Given the description of an element on the screen output the (x, y) to click on. 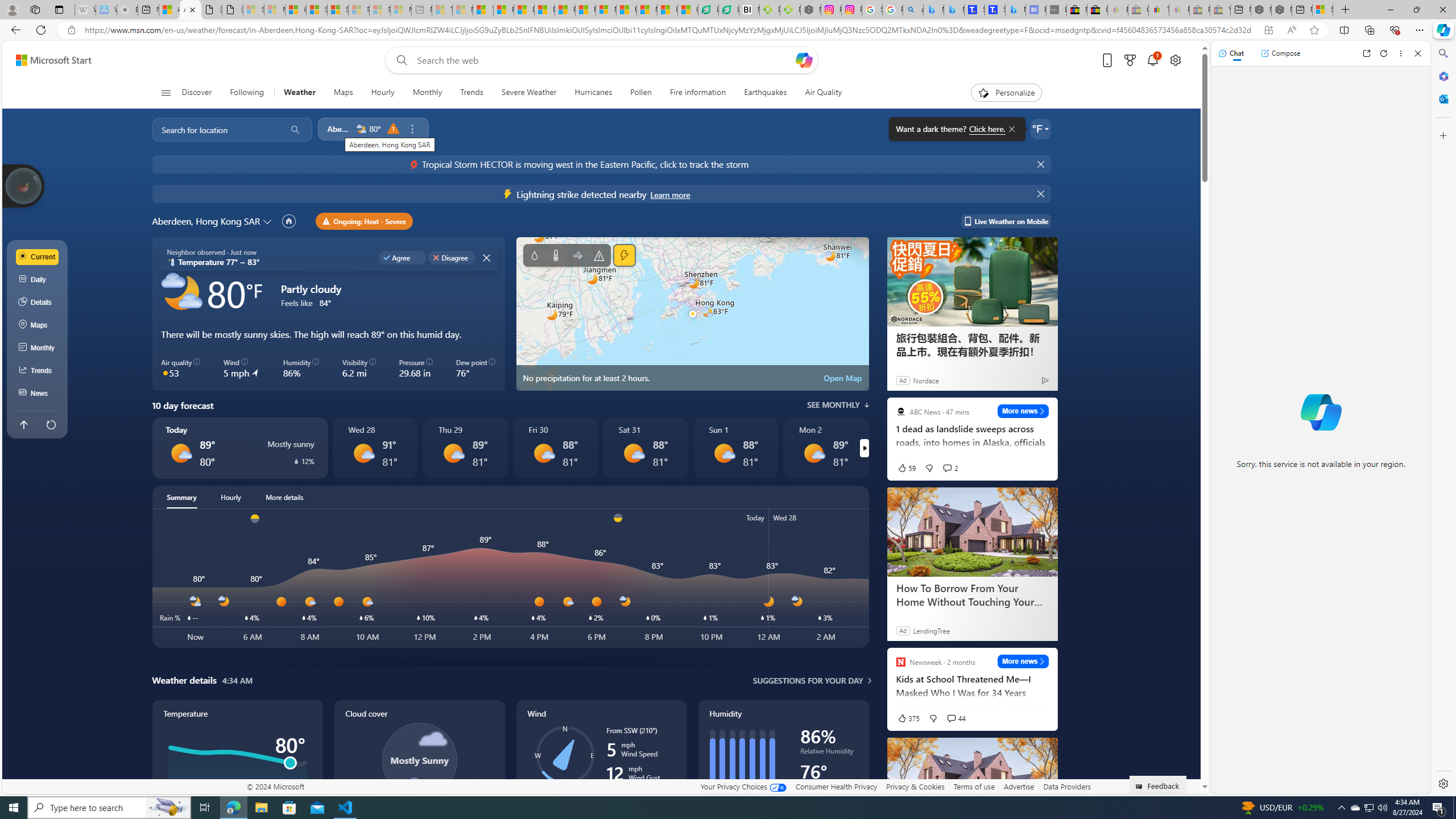
Wind 5 mph (241, 368)
Microsoft Bing Travel - Shangri-La Hotel Bangkok (1015, 9)
Weather settings (1040, 128)
Maps (343, 92)
Personalize (1006, 92)
Consumer Health Privacy (835, 785)
Aberdeen, Hong Kong SAR weather forecast | Microsoft Weather (189, 9)
Hurricanes (593, 92)
Set as primary location (289, 220)
Class: button-glyph (165, 92)
